Given the description of an element on the screen output the (x, y) to click on. 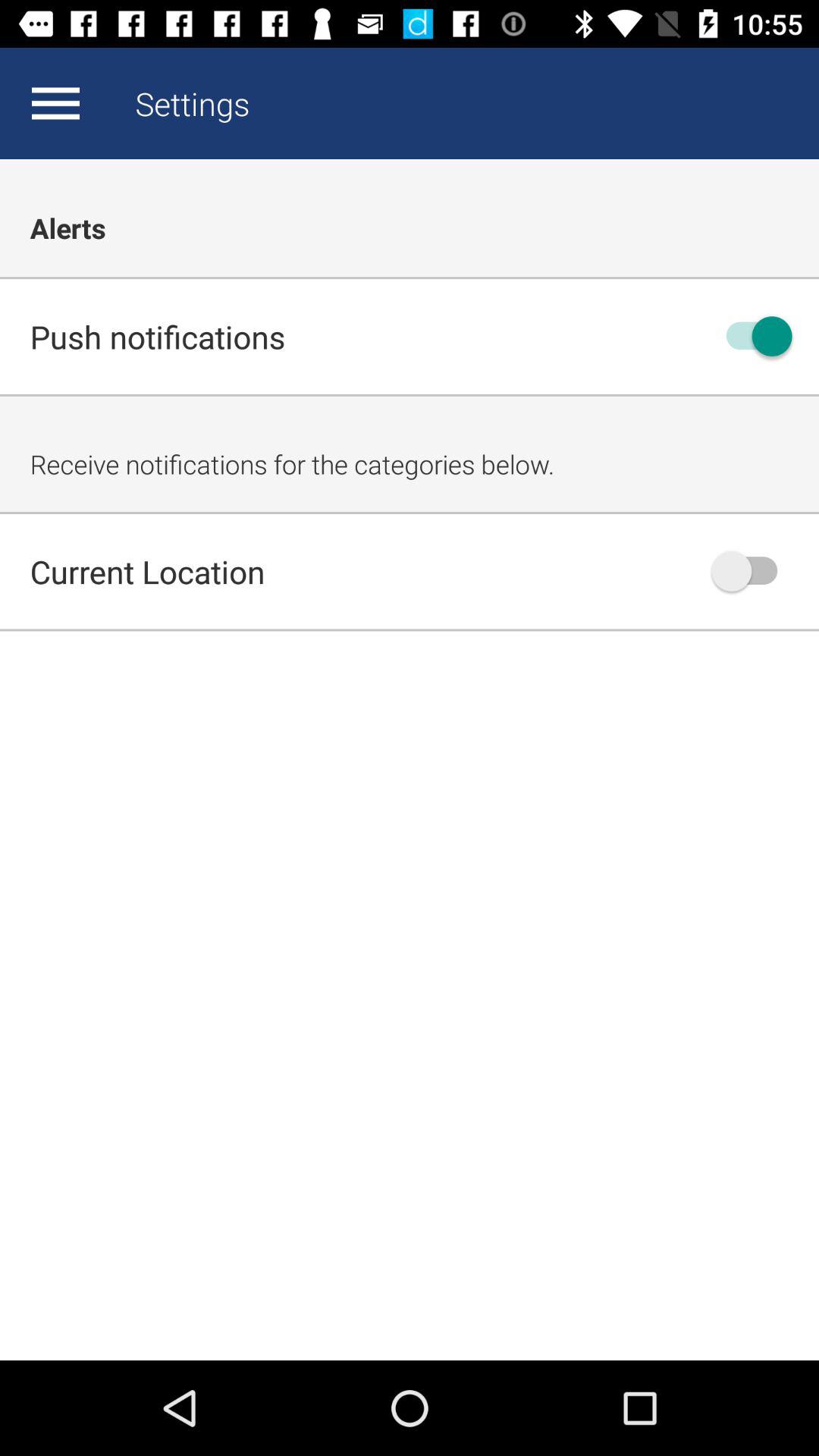
click icon above the alerts app (55, 103)
